Given the description of an element on the screen output the (x, y) to click on. 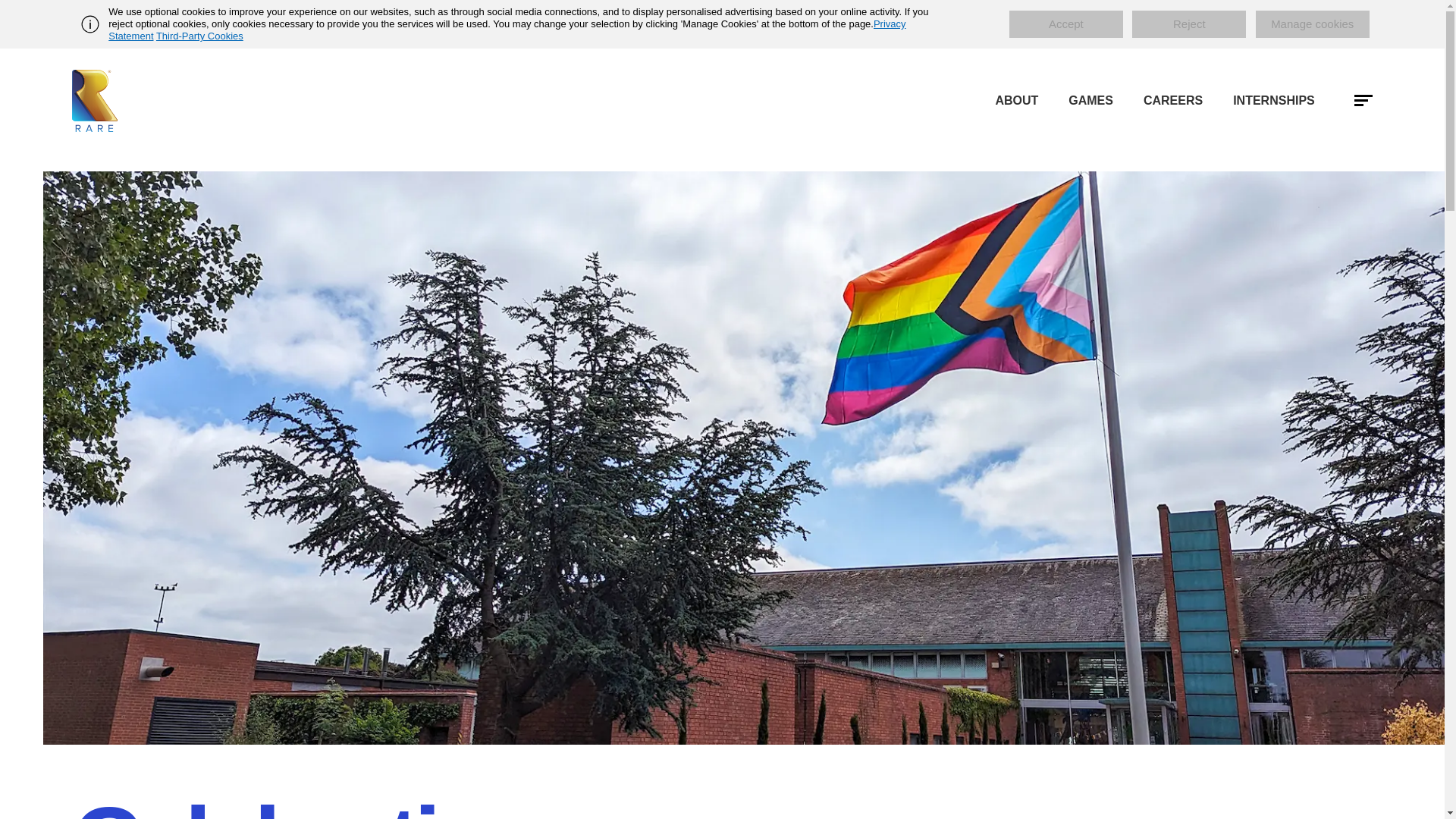
Manage cookies (1312, 23)
ABOUT (1015, 100)
GAMES (1090, 100)
Privacy Statement (506, 29)
Accept (1065, 23)
Reject (1189, 23)
Third-Party Cookies (199, 35)
CAREERS (1172, 100)
Skip to main content (722, 26)
INTERNSHIPS (1273, 100)
